Given the description of an element on the screen output the (x, y) to click on. 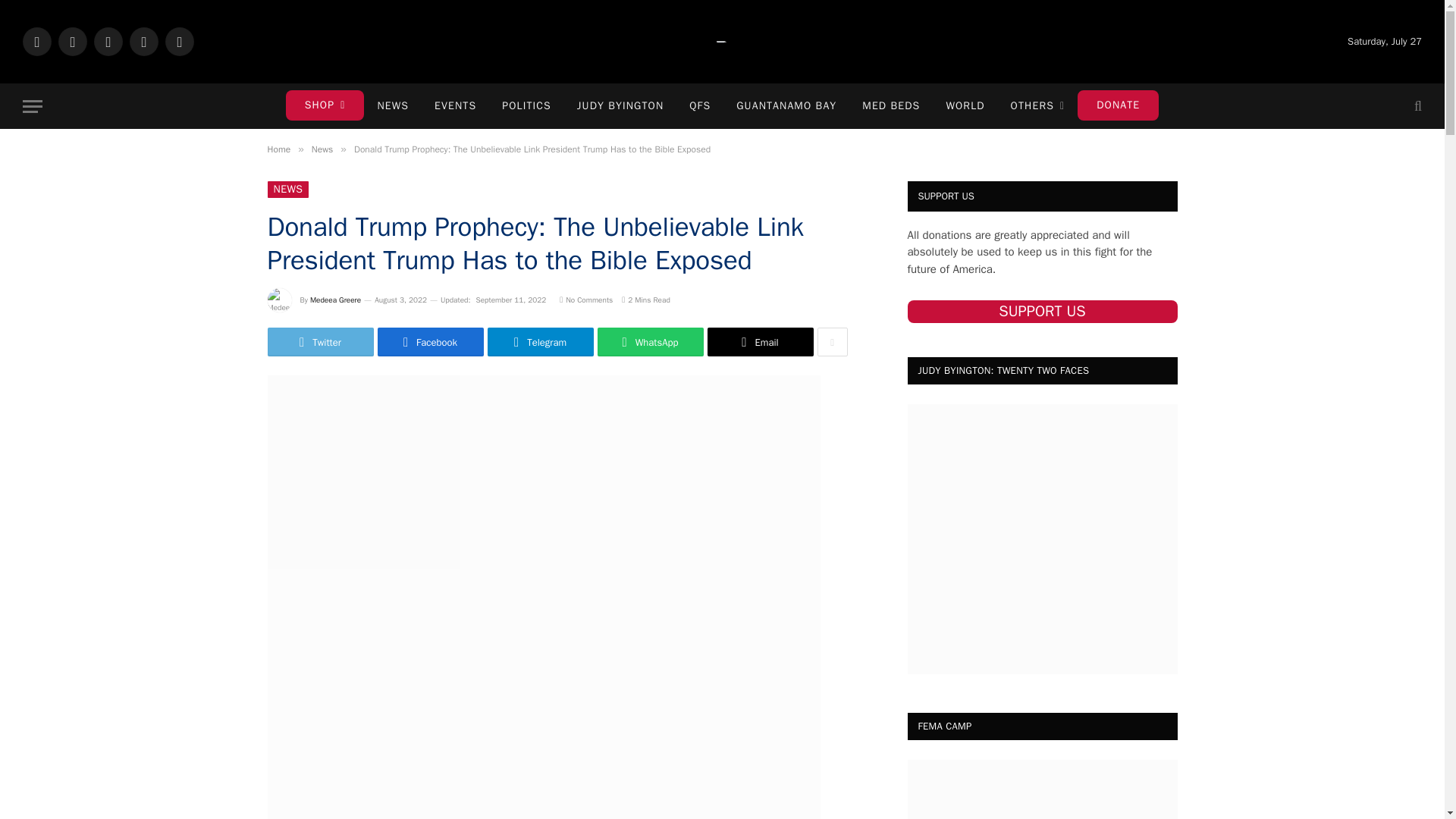
News (322, 149)
Instagram (143, 41)
MED BEDS (890, 105)
Share on Twitter (319, 341)
Show More Social Sharing (831, 341)
GUANTANAMO BAY (785, 105)
Facebook (108, 41)
WORLD (965, 105)
Share on WhatsApp (649, 341)
POLITICS (526, 105)
Search (1416, 106)
QFS (700, 105)
Telegram (36, 41)
SHOP (325, 105)
